Given the description of an element on the screen output the (x, y) to click on. 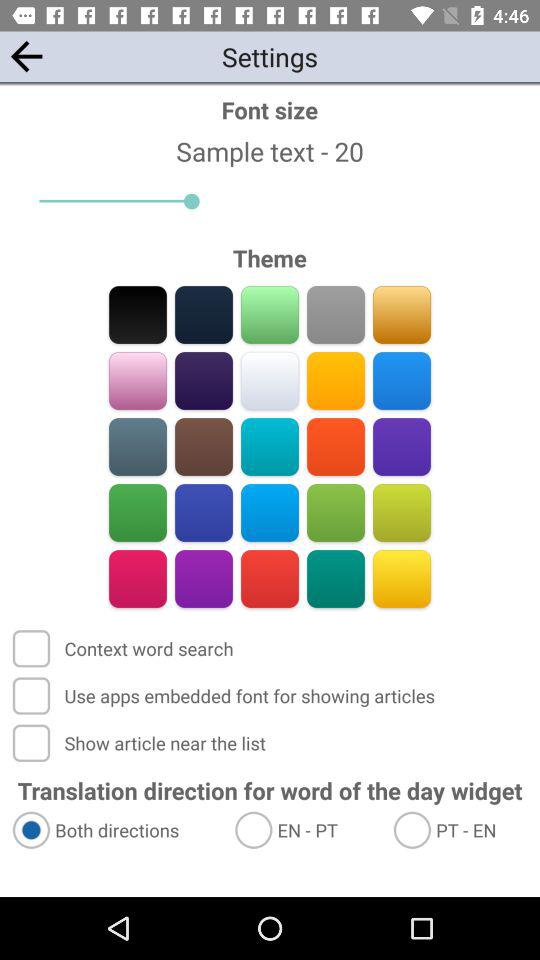
click the both directions icon (114, 829)
